Given the description of an element on the screen output the (x, y) to click on. 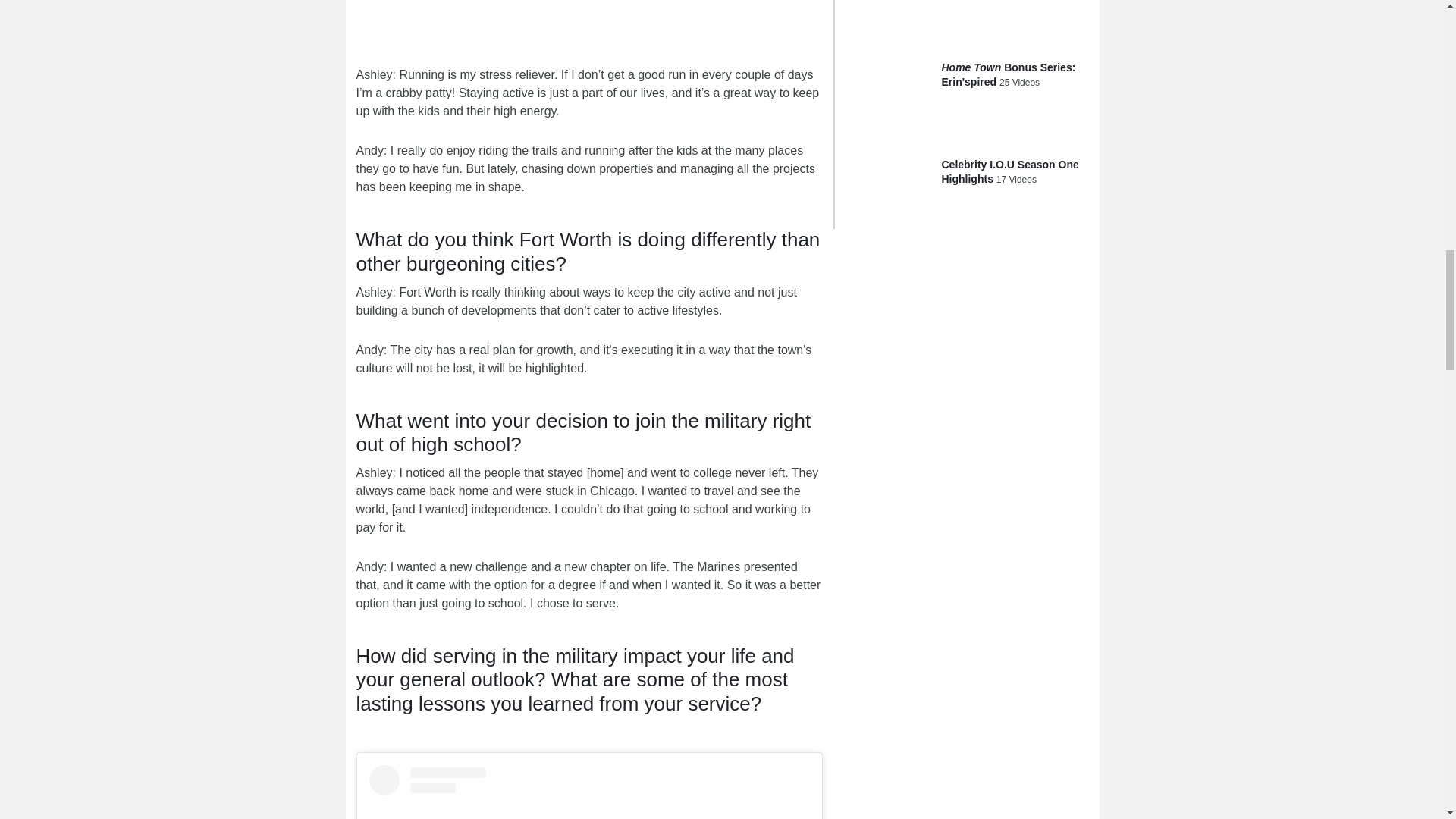
Celebrity I.O.U Season One Highlights (887, 174)
Fixer to Fabulous Season One Highlights (887, 12)
